Given the description of an element on the screen output the (x, y) to click on. 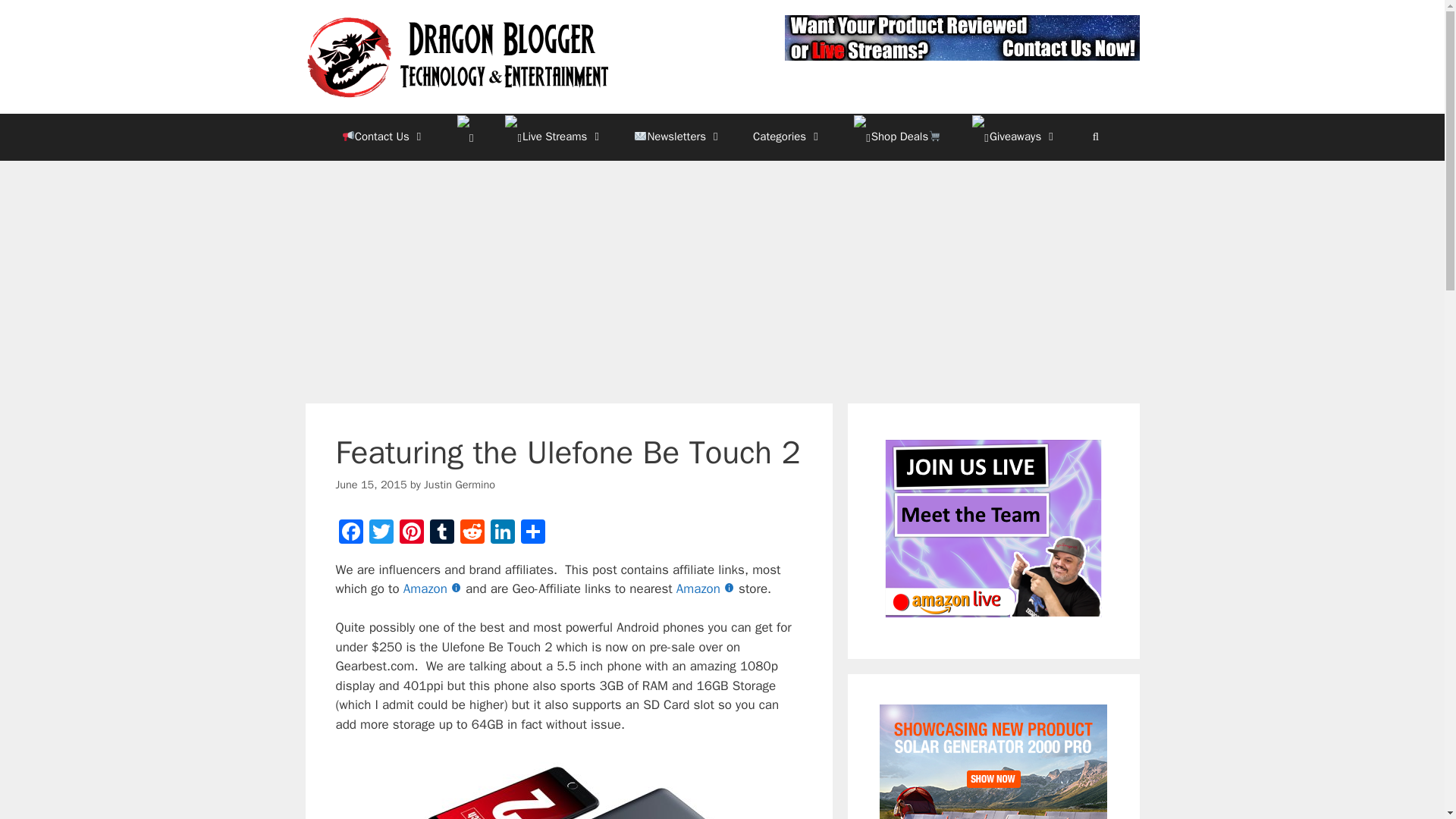
Pinterest (411, 533)
Contact Us (383, 135)
Tumblr (441, 533)
Reddit (471, 533)
Categories (788, 135)
Live Streams (553, 136)
Facebook (349, 533)
View all posts by Justin Germino (459, 484)
Amazon Homepage (434, 588)
LinkedIn (501, 533)
Newsletters (678, 135)
Twitter (380, 533)
Amazon Homepage (707, 588)
